Given the description of an element on the screen output the (x, y) to click on. 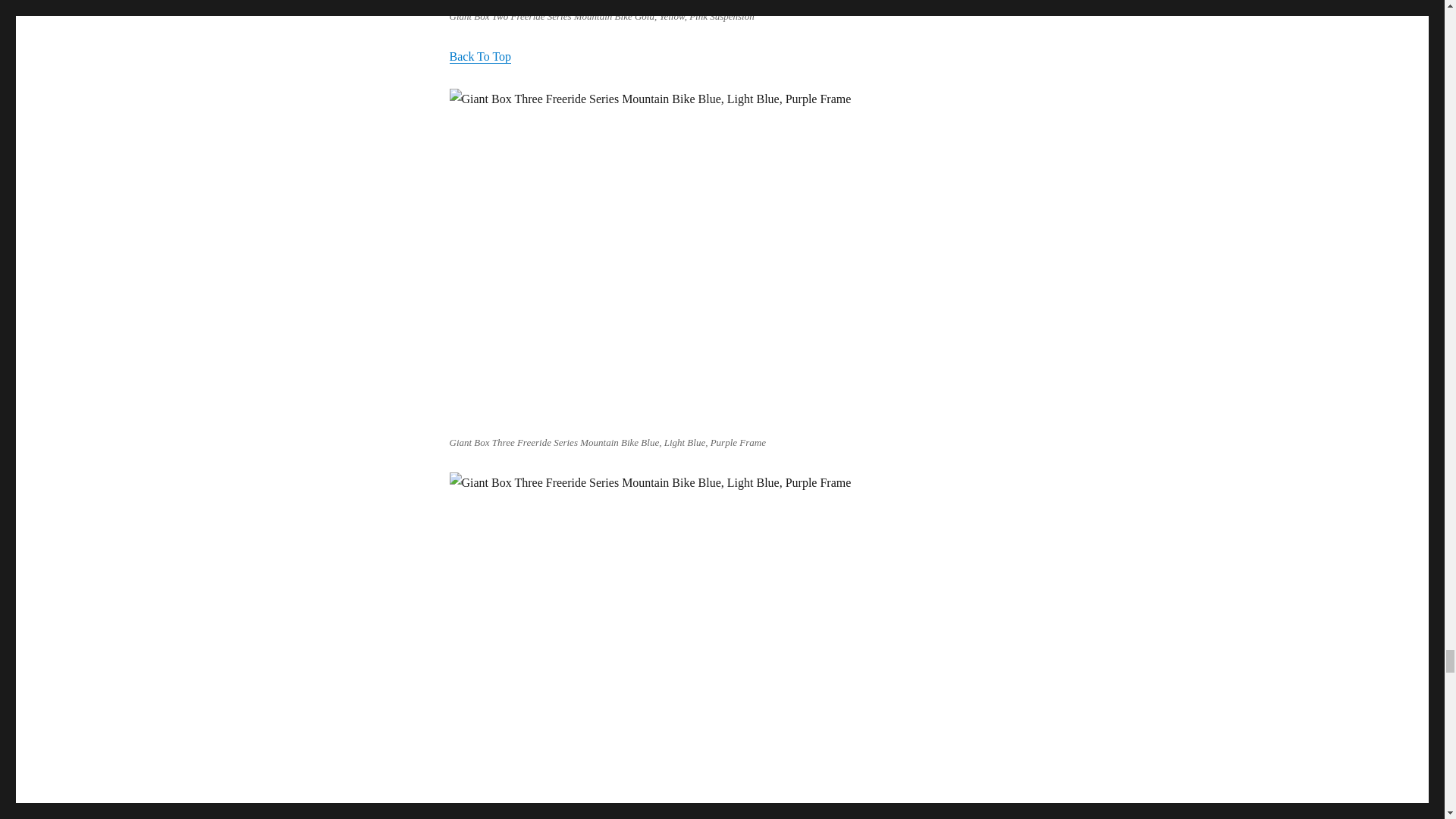
Back To Top (479, 56)
